Given the description of an element on the screen output the (x, y) to click on. 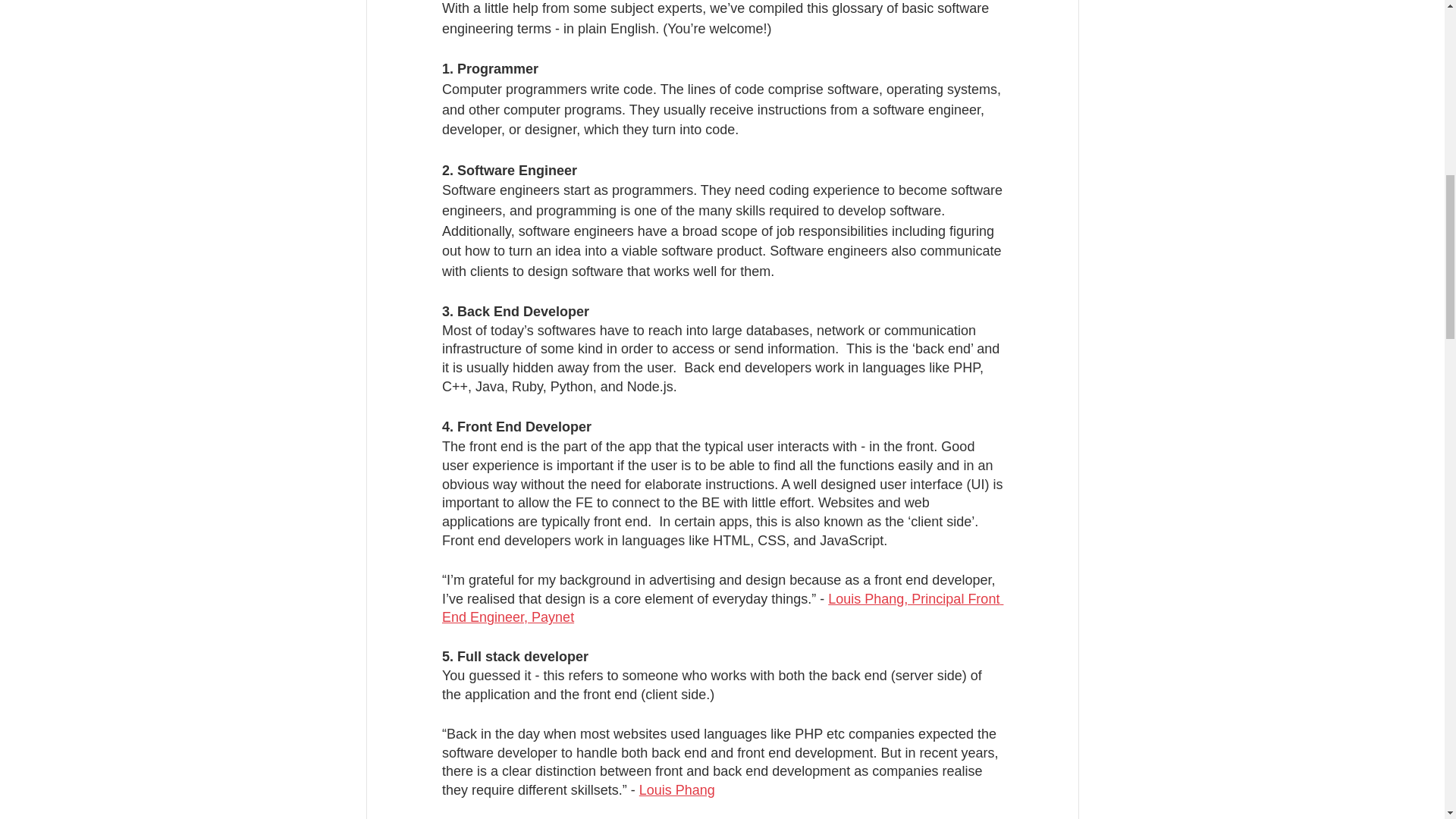
Louis Phang, Principal Front End Engineer, Paynet (722, 608)
Louis Phang (676, 789)
HTML, CSS, and JavaScript (798, 540)
